Given the description of an element on the screen output the (x, y) to click on. 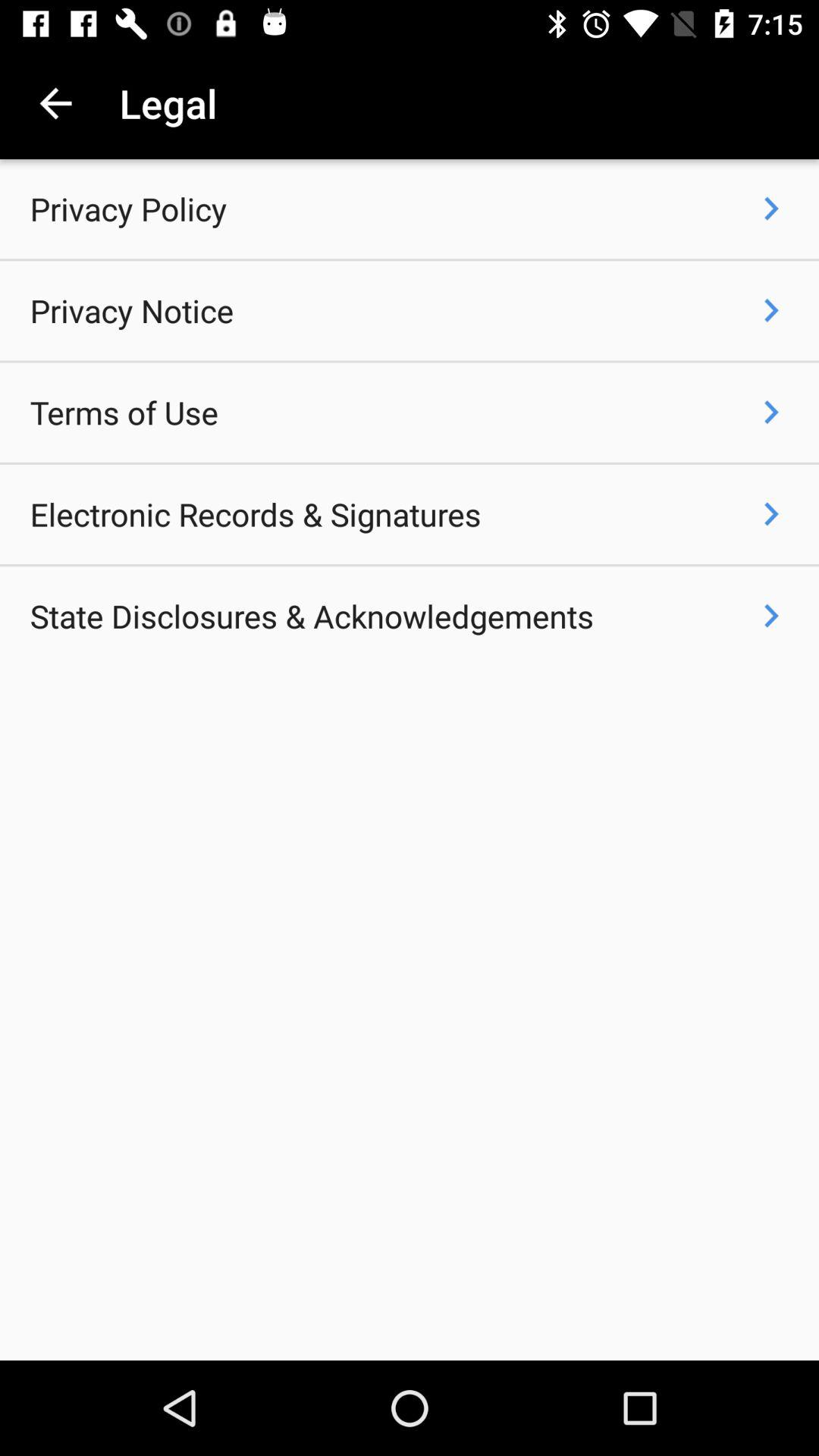
swipe until the privacy policy item (128, 208)
